Given the description of an element on the screen output the (x, y) to click on. 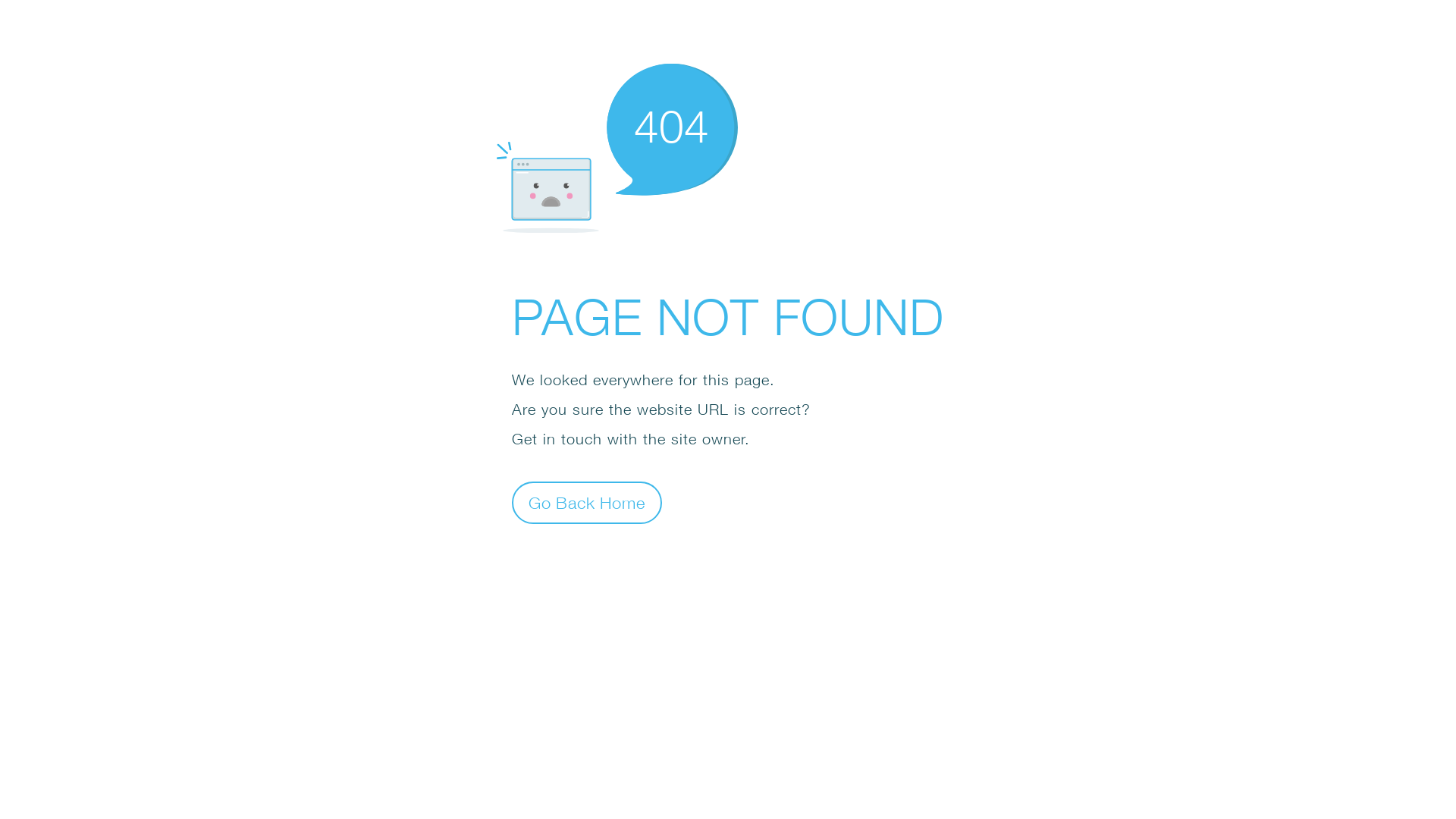
Go Back Home Element type: text (586, 502)
